Given the description of an element on the screen output the (x, y) to click on. 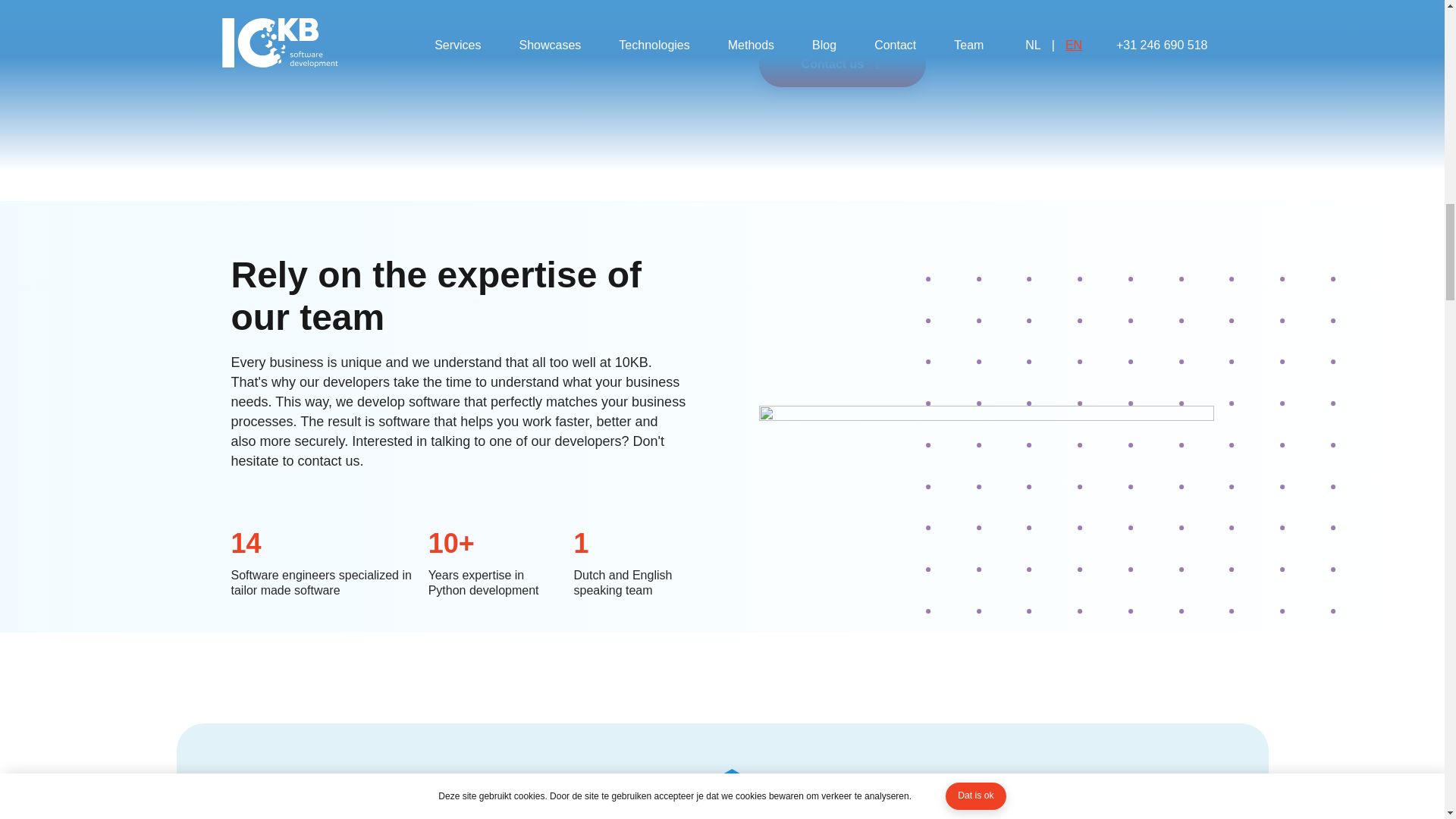
Contact us (841, 63)
Contact us (985, 63)
